Given the description of an element on the screen output the (x, y) to click on. 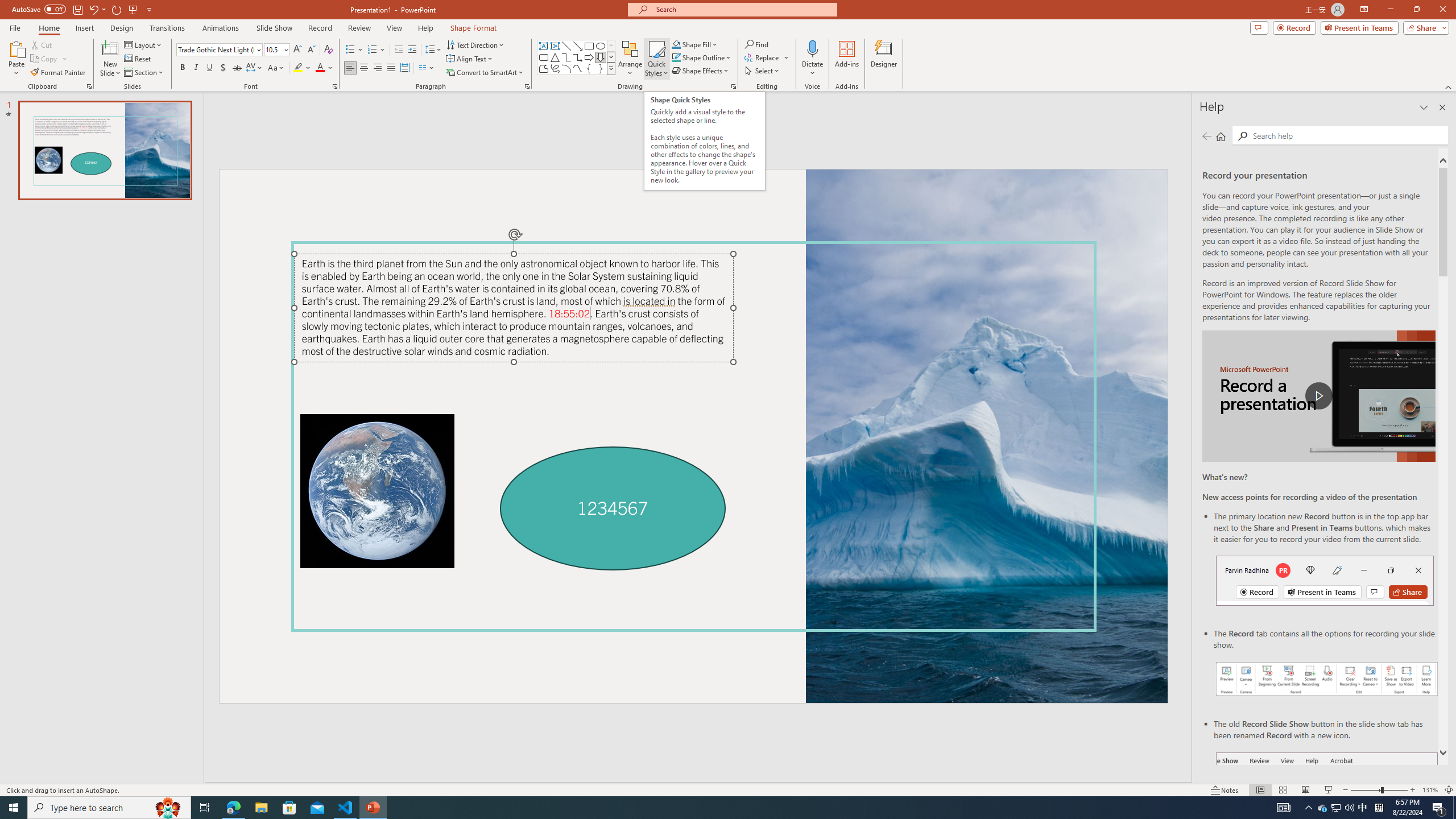
Record button in top bar (1324, 580)
Character Spacing (254, 67)
Section (144, 72)
Arrange (630, 58)
Shape Outline (701, 56)
Underline (209, 67)
